Given the description of an element on the screen output the (x, y) to click on. 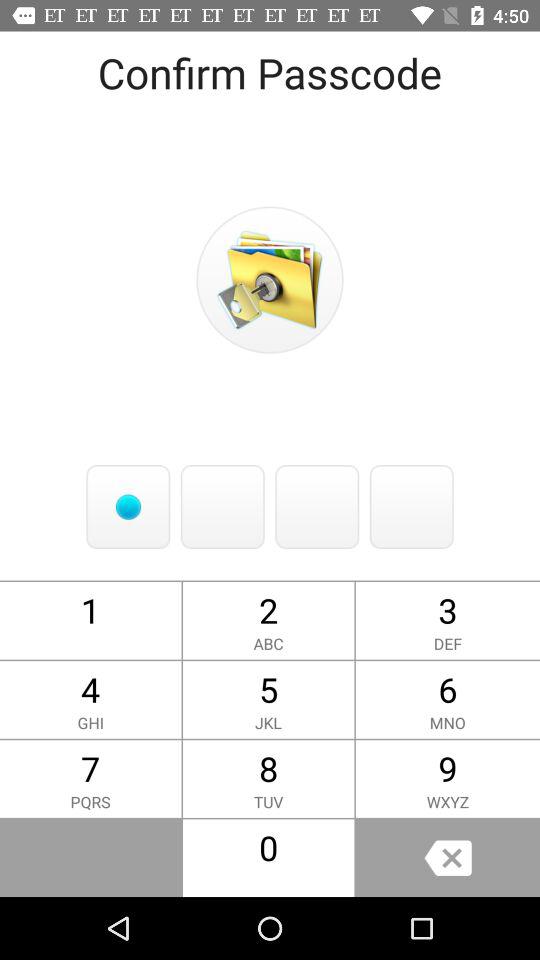
go back (447, 858)
